Given the description of an element on the screen output the (x, y) to click on. 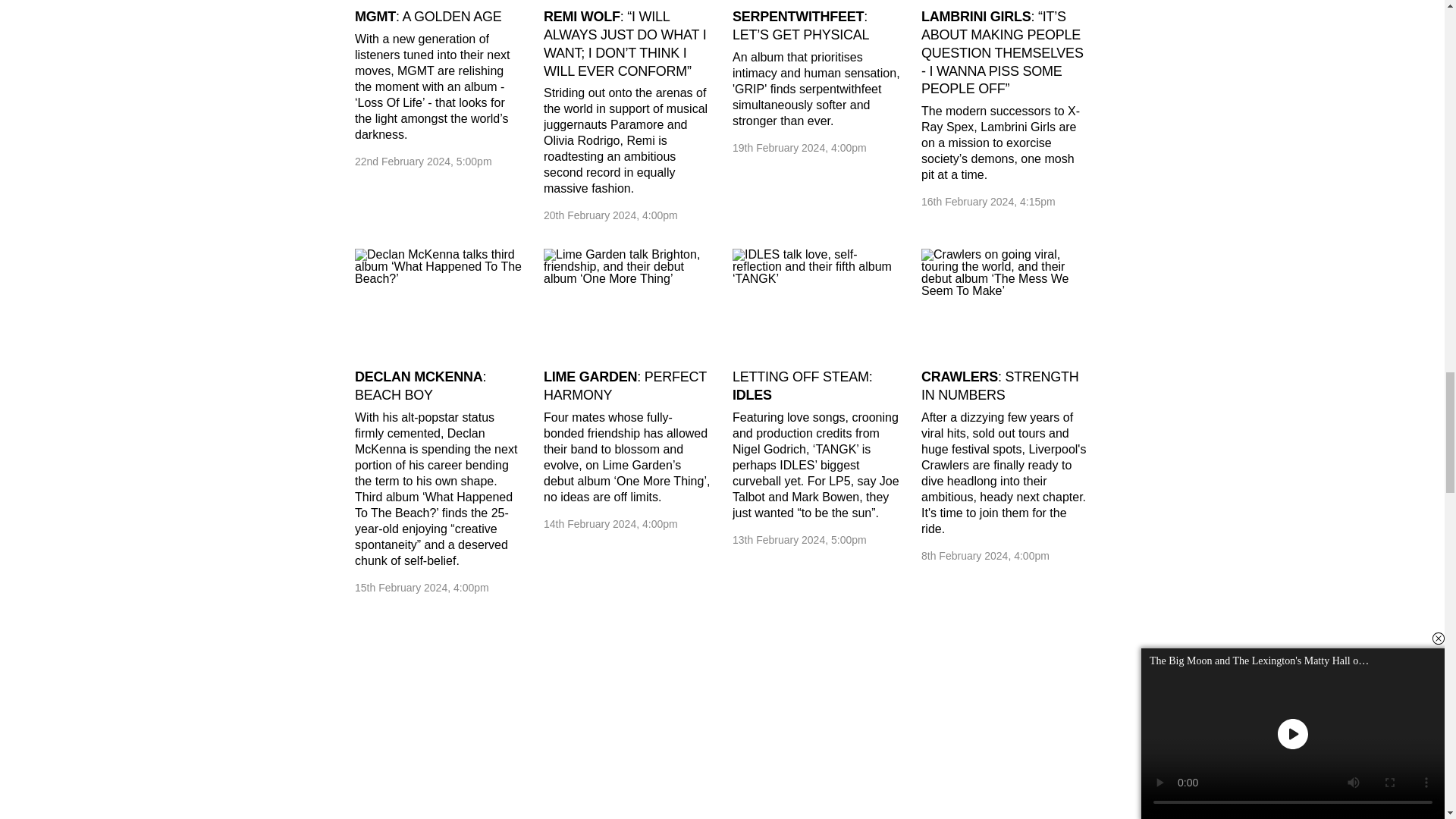
MGMT: A GOLDEN AGE (428, 16)
